Given the description of an element on the screen output the (x, y) to click on. 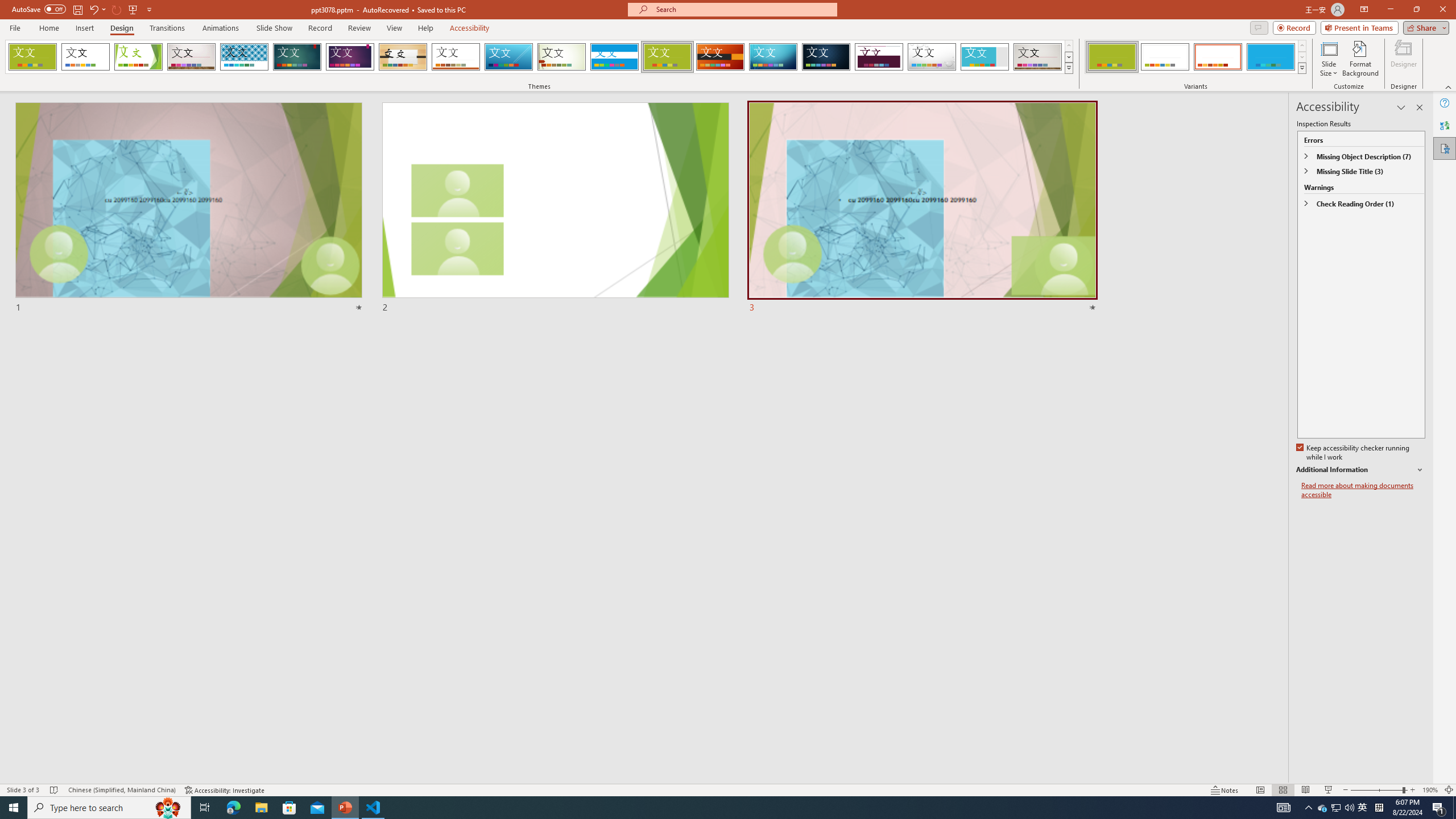
Banded (614, 56)
Berlin (720, 56)
Basis Variant 3 (1217, 56)
Damask (826, 56)
AutomationID: ThemeVariantsGallery (1195, 56)
Format Background (1360, 58)
